Given the description of an element on the screen output the (x, y) to click on. 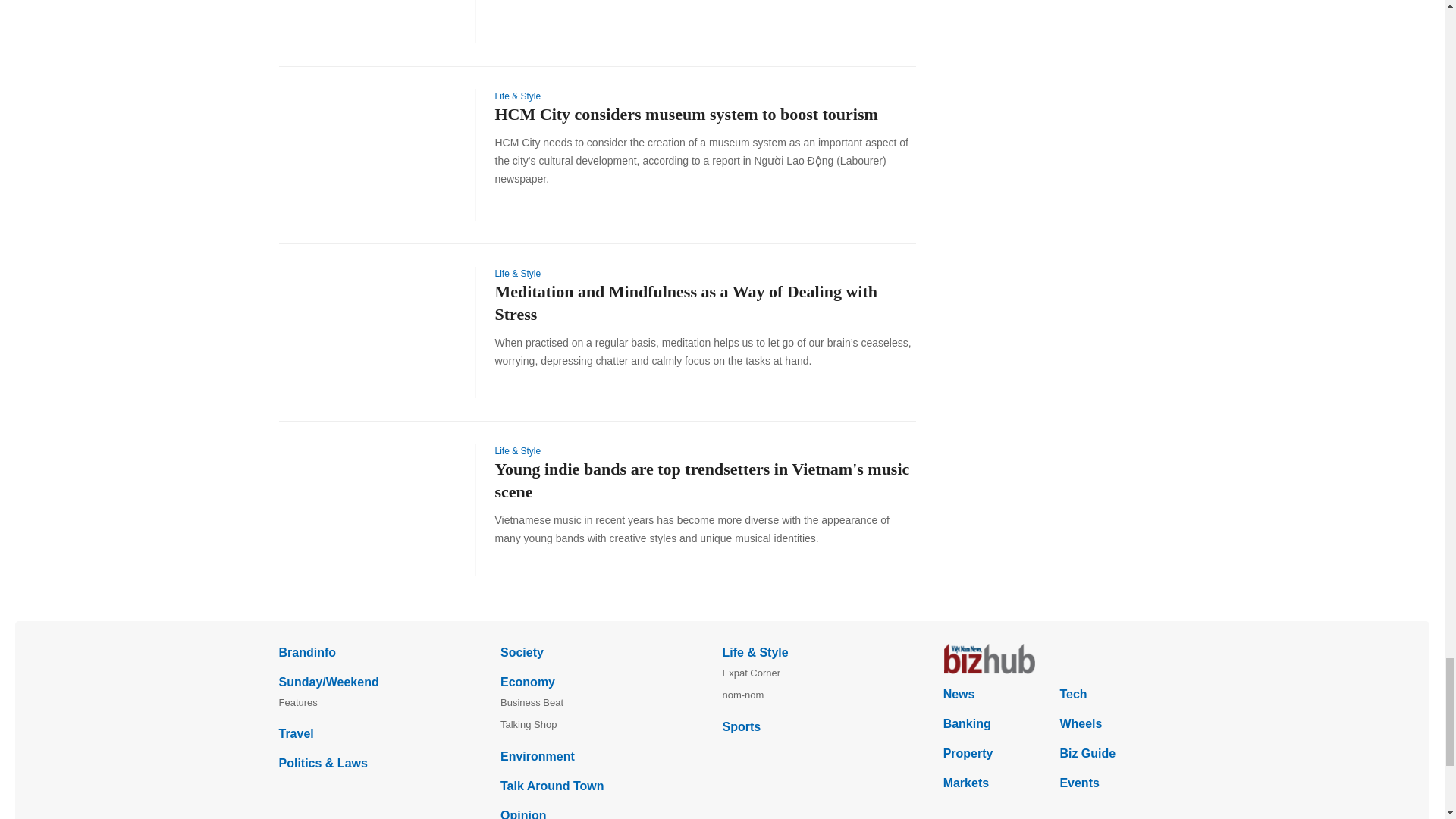
bizhub (1054, 658)
